Given the description of an element on the screen output the (x, y) to click on. 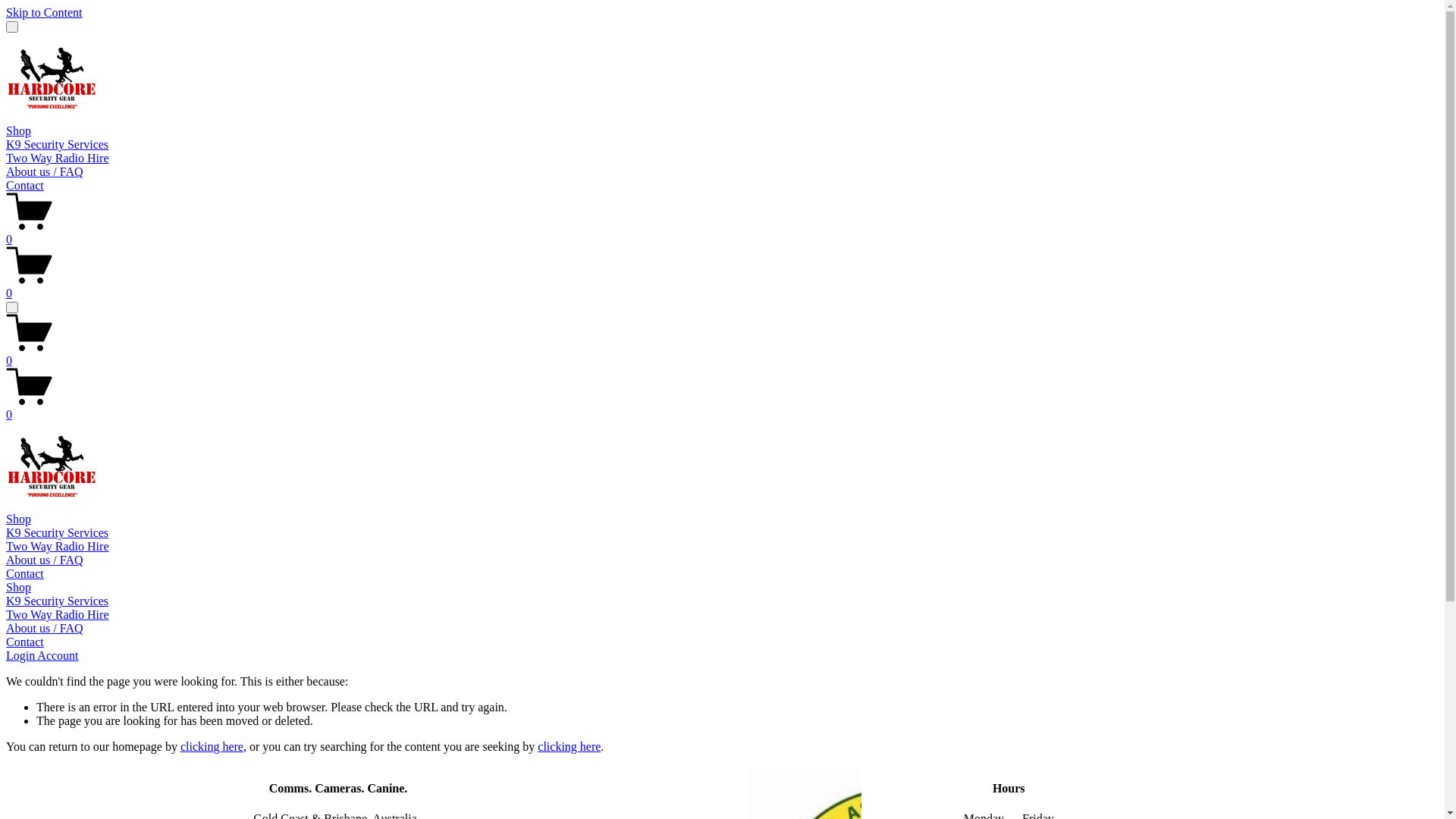
Contact Element type: text (24, 184)
K9 Security Services Element type: text (57, 144)
Contact Element type: text (722, 642)
About us / FAQ Element type: text (44, 559)
clicking here Element type: text (568, 746)
0 Element type: text (722, 232)
Shop Element type: text (18, 130)
About us / FAQ Element type: text (44, 171)
Contact Element type: text (24, 573)
0 Element type: text (722, 286)
clicking here Element type: text (211, 746)
Shop Element type: text (18, 518)
K9 Security Services Element type: text (722, 601)
Login Account Element type: text (42, 655)
About us / FAQ Element type: text (722, 628)
Two Way Radio Hire Element type: text (722, 614)
Two Way Radio Hire Element type: text (57, 157)
Skip to Content Element type: text (43, 12)
K9 Security Services Element type: text (57, 532)
Two Way Radio Hire Element type: text (57, 545)
0 Element type: text (722, 407)
Shop Element type: text (722, 587)
0 Element type: text (722, 353)
